Given the description of an element on the screen output the (x, y) to click on. 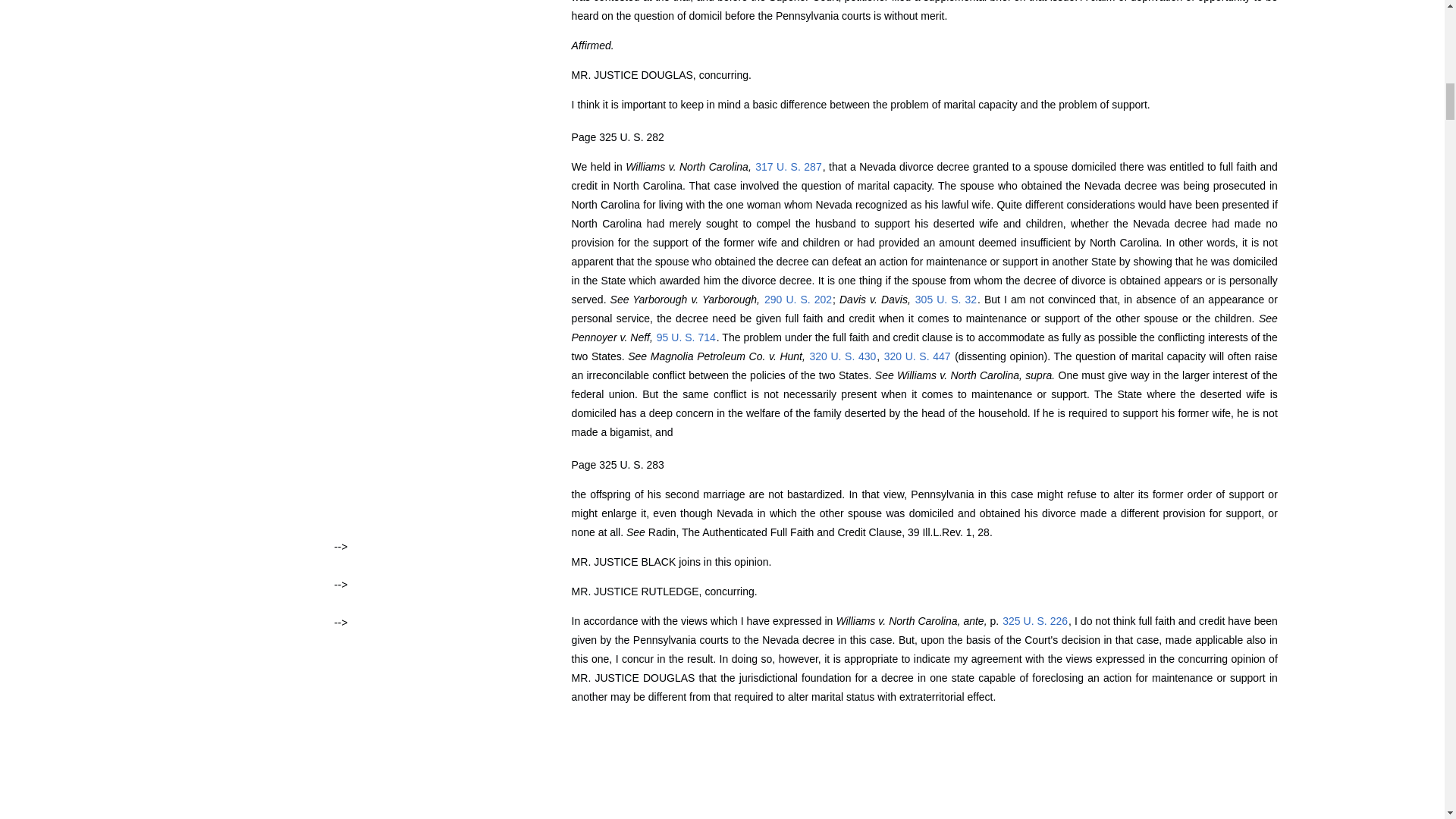
325 U. S. 226 (1034, 621)
290 U. S. 202 (797, 299)
95 U. S. 714 (686, 337)
Page 325 U. S. 282 (617, 137)
Page 325 U. S. 283 (617, 464)
320 U. S. 430 (842, 356)
305 U. S. 32 (945, 299)
317 U. S. 287 (788, 166)
320 U. S. 447 (917, 356)
